Given the description of an element on the screen output the (x, y) to click on. 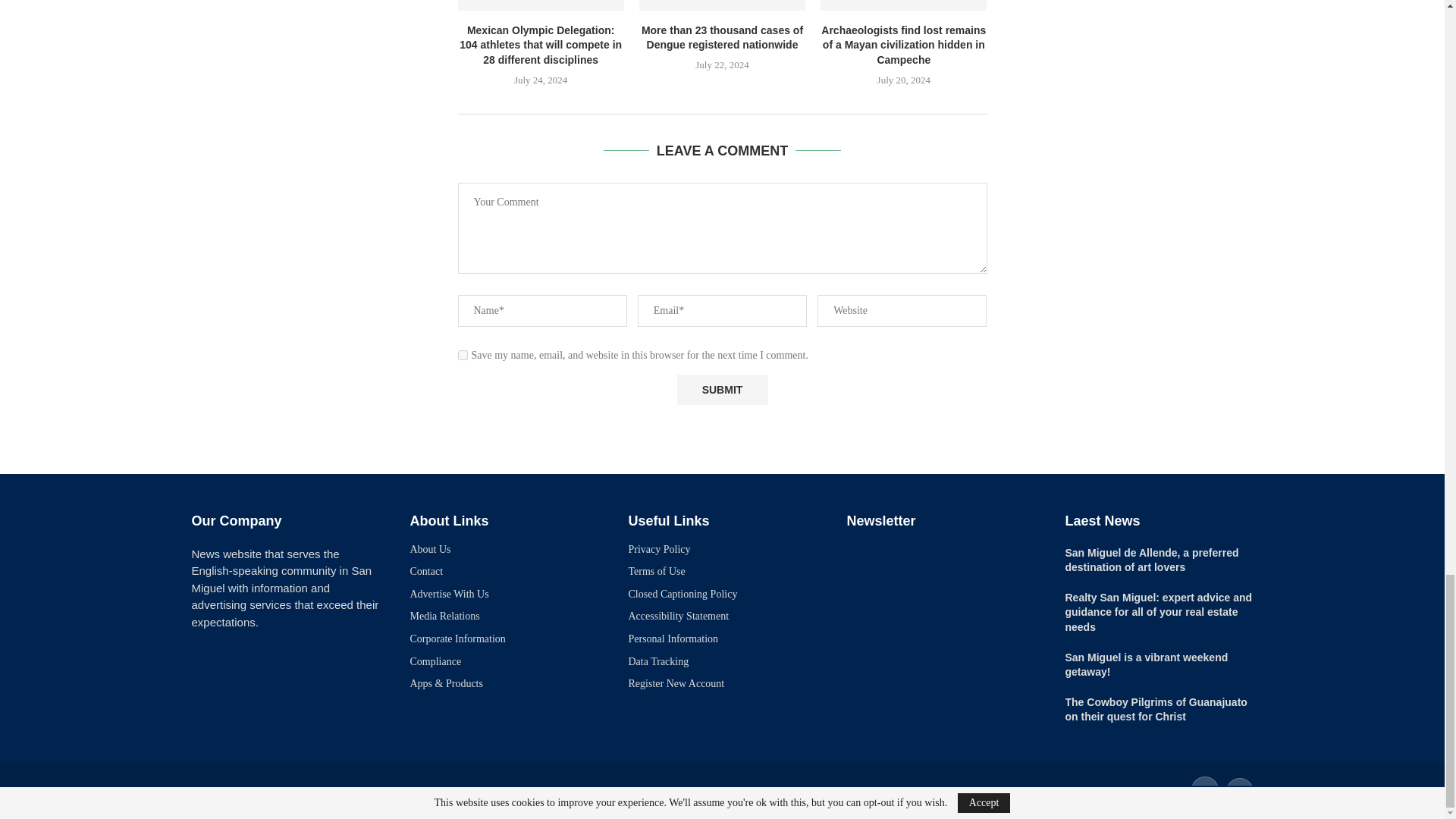
More than 23 thousand cases of Dengue registered nationwide (722, 5)
Submit (722, 389)
yes (462, 355)
